Given the description of an element on the screen output the (x, y) to click on. 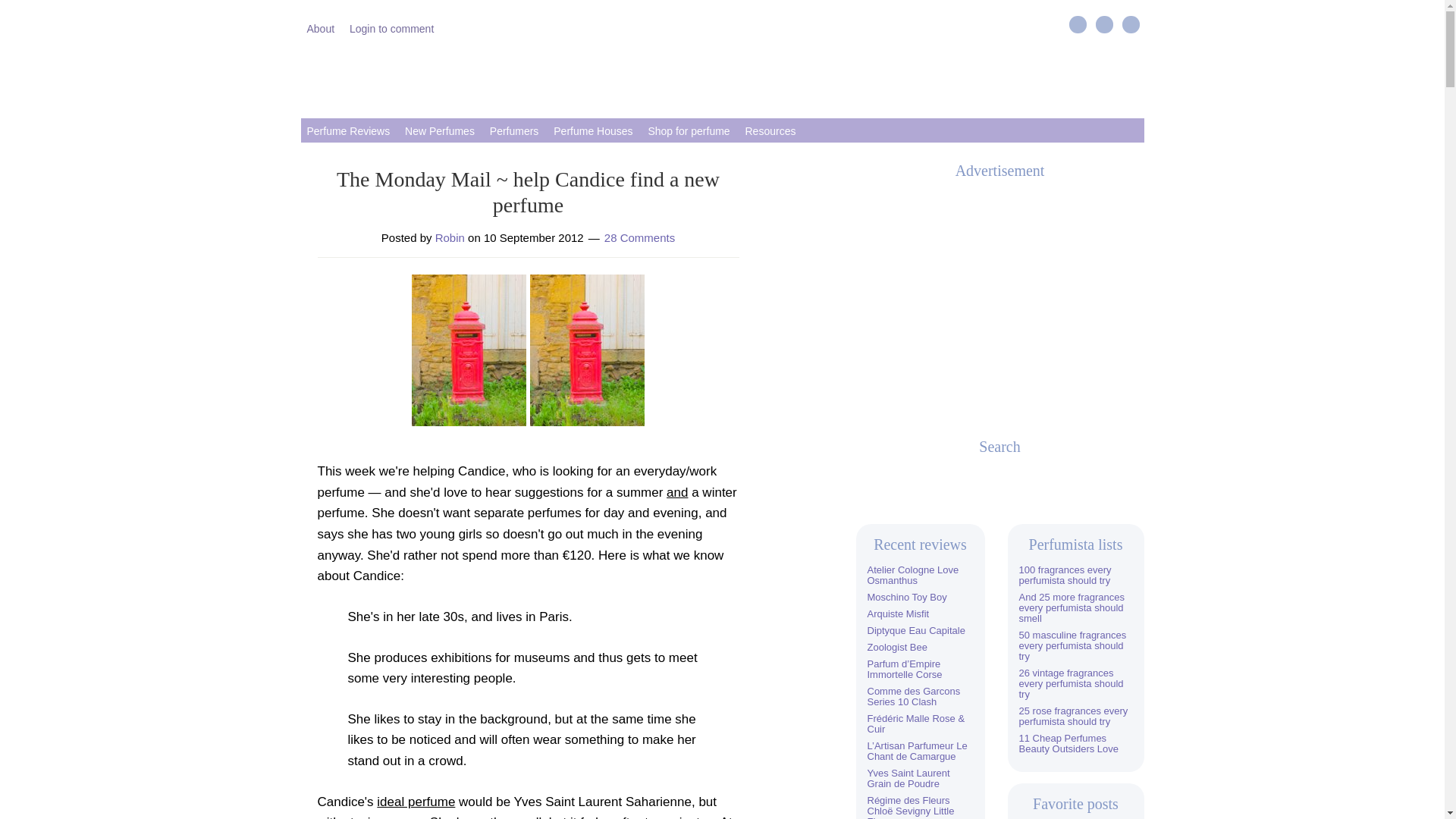
Resources (770, 129)
Perfumers (513, 129)
28 Comments (639, 237)
Perfume Reviews (347, 129)
Login to comment (391, 27)
Shop for perfume (688, 129)
New Perfumes (439, 129)
Robin (449, 237)
Now Smell This (721, 75)
About (319, 27)
